Given the description of an element on the screen output the (x, y) to click on. 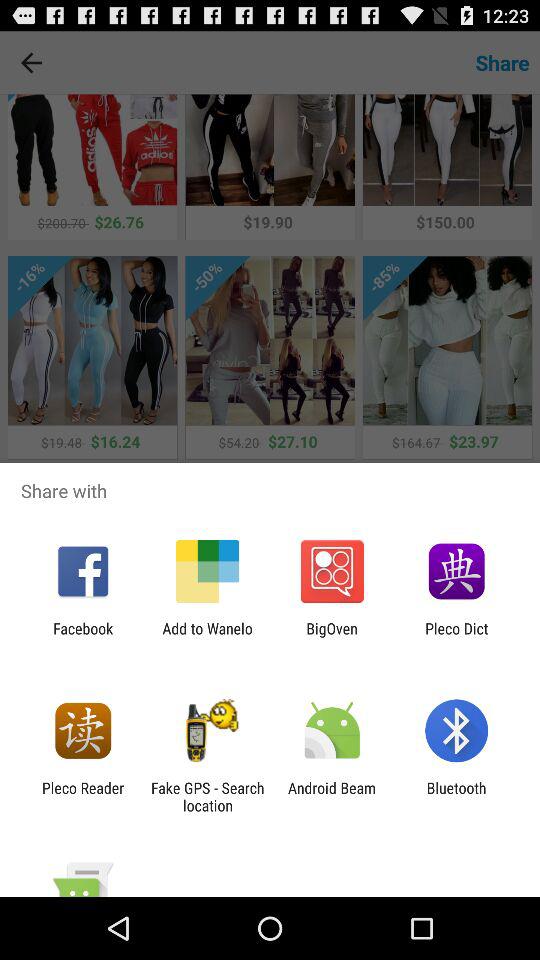
open the facebook app (83, 637)
